Given the description of an element on the screen output the (x, y) to click on. 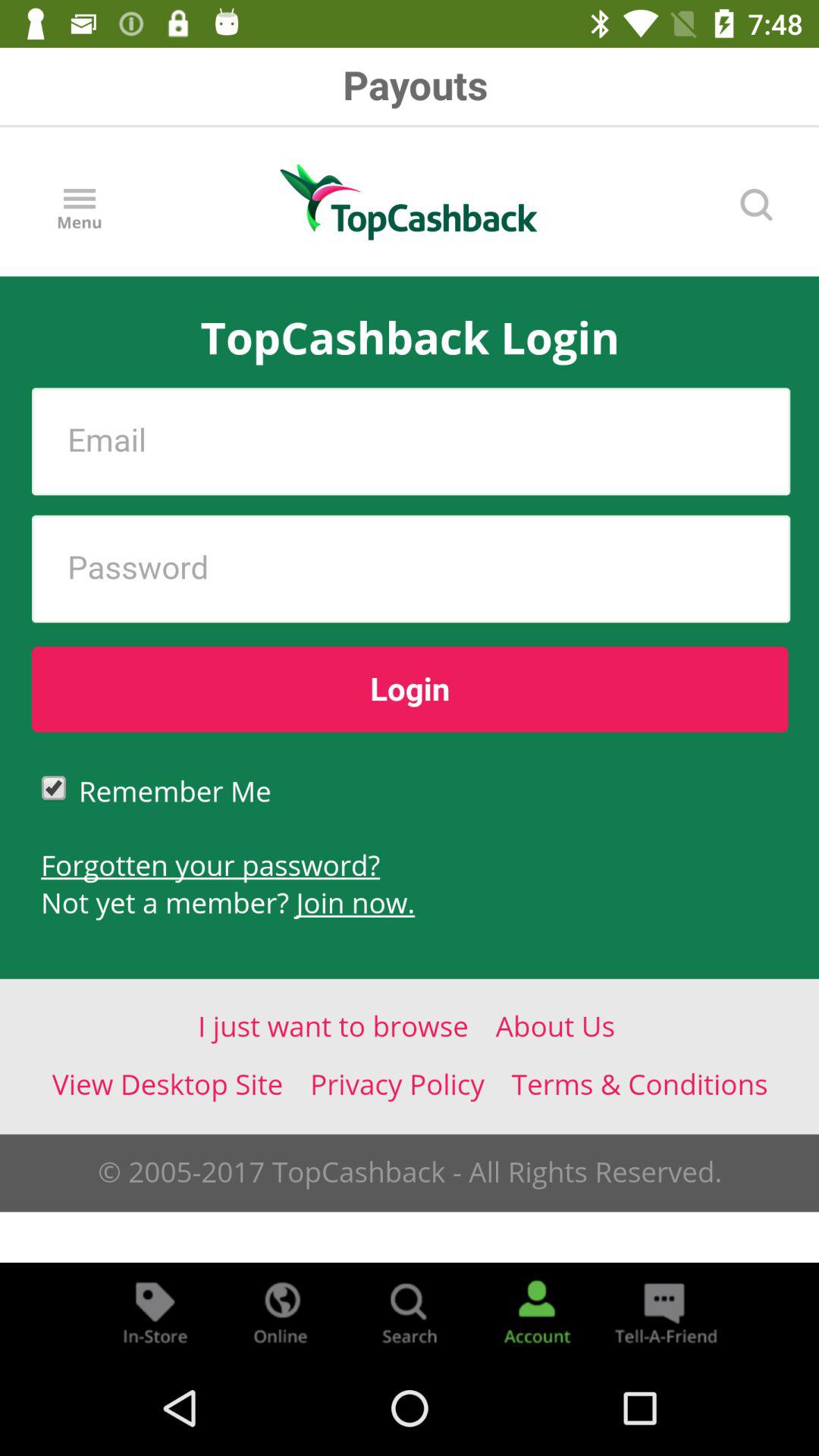
go to account information (536, 1311)
